Given the description of an element on the screen output the (x, y) to click on. 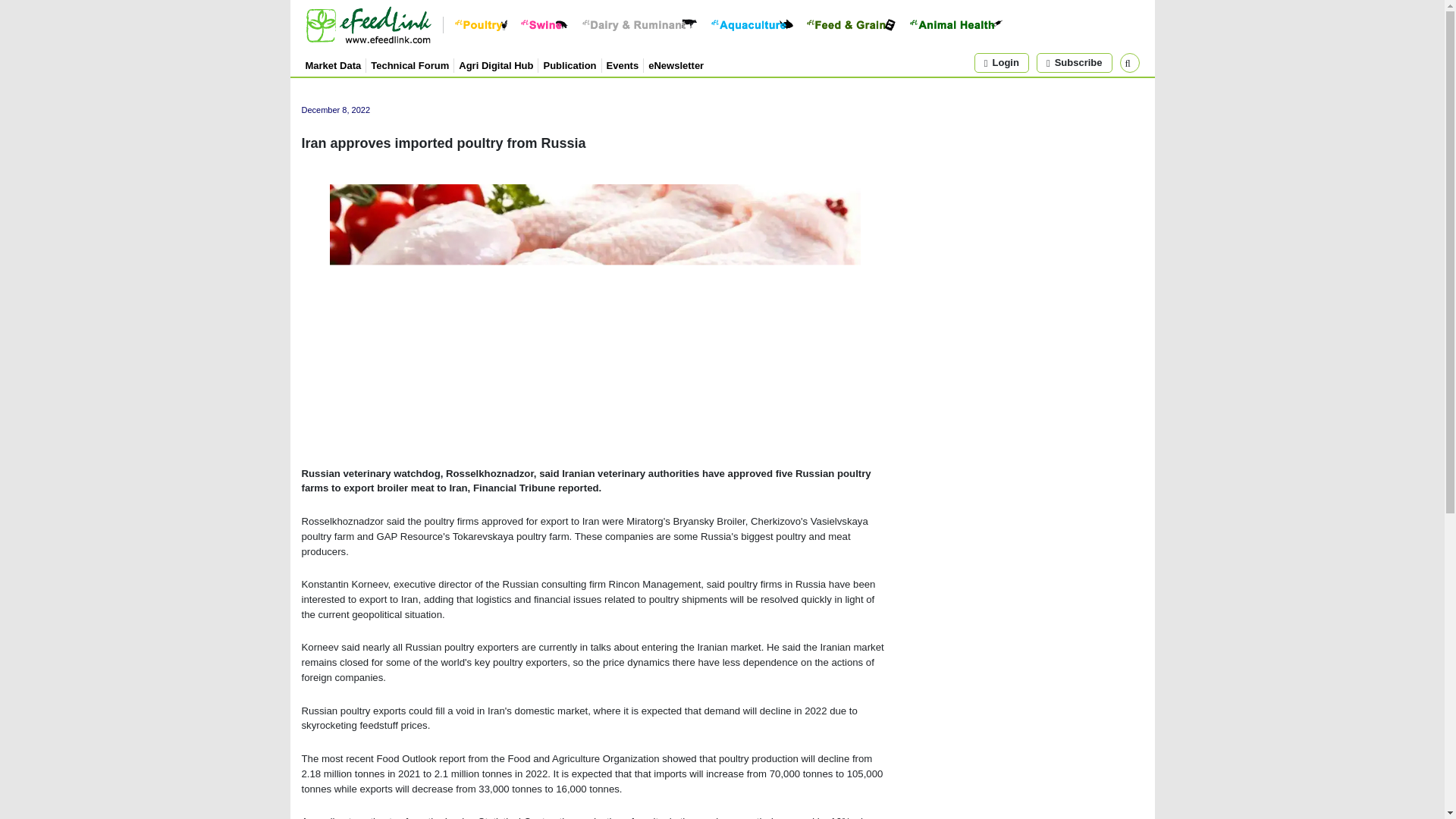
Publication (569, 64)
eNewsletter (675, 64)
Events (623, 64)
Animal Health (956, 24)
Aquaculture (752, 24)
Technical Forum (409, 64)
Back to eFeedLink Homepage (367, 24)
Swine (544, 24)
Agri Digital Hub (495, 64)
Poultry (480, 24)
Market Data (332, 64)
